Given the description of an element on the screen output the (x, y) to click on. 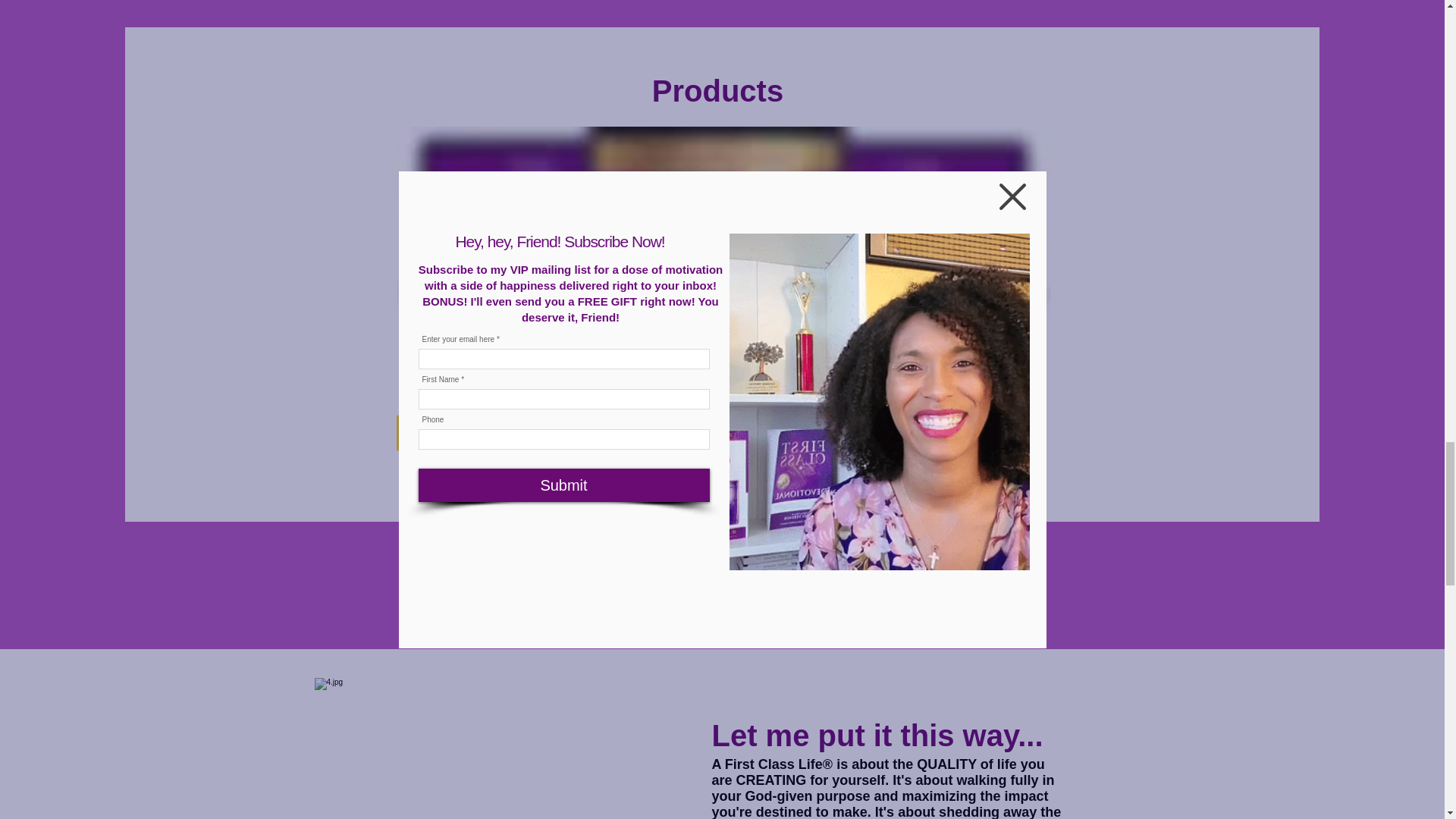
Yes, Shop The Store! (719, 432)
